Given the description of an element on the screen output the (x, y) to click on. 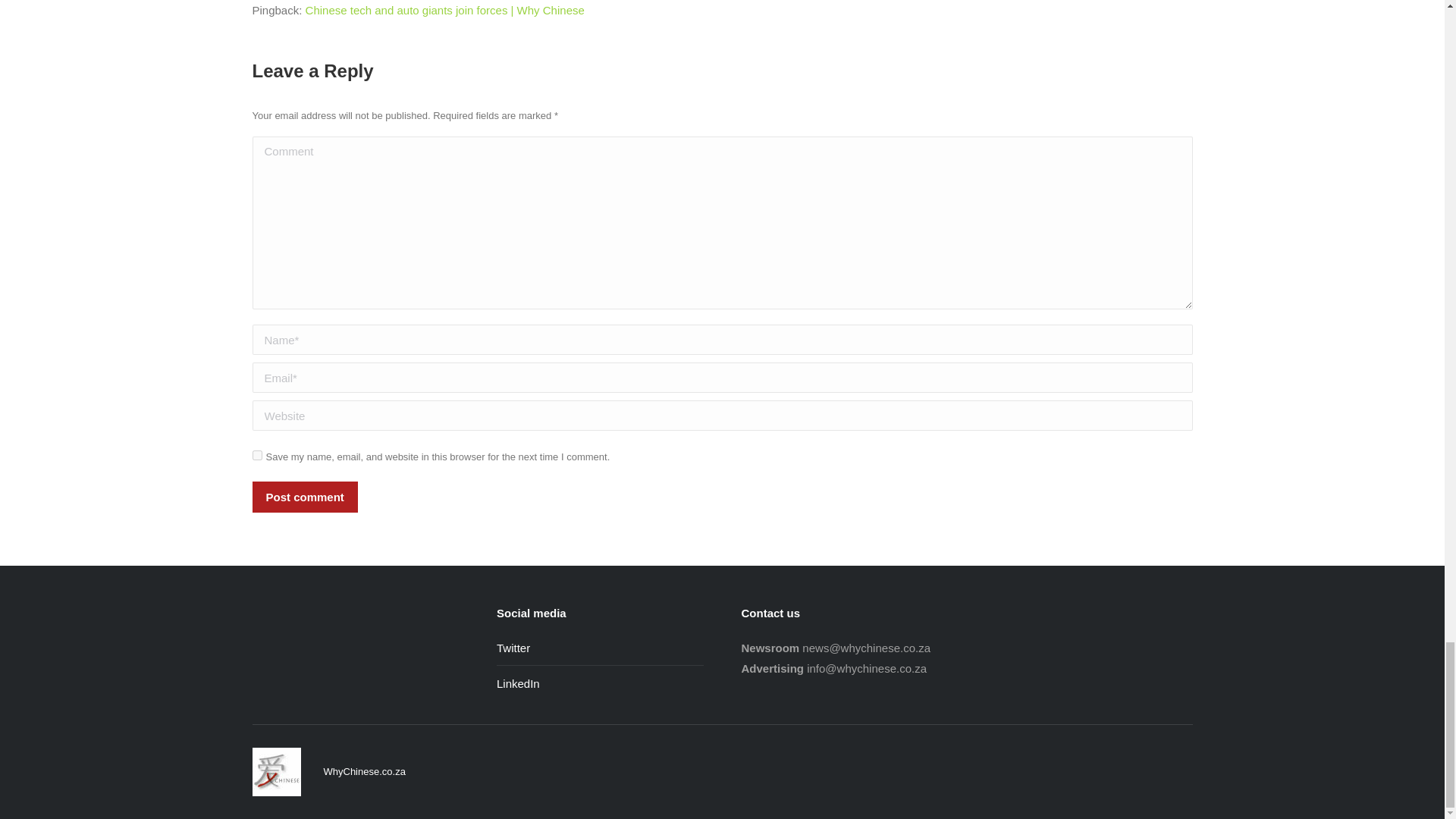
yes (256, 455)
